Given the description of an element on the screen output the (x, y) to click on. 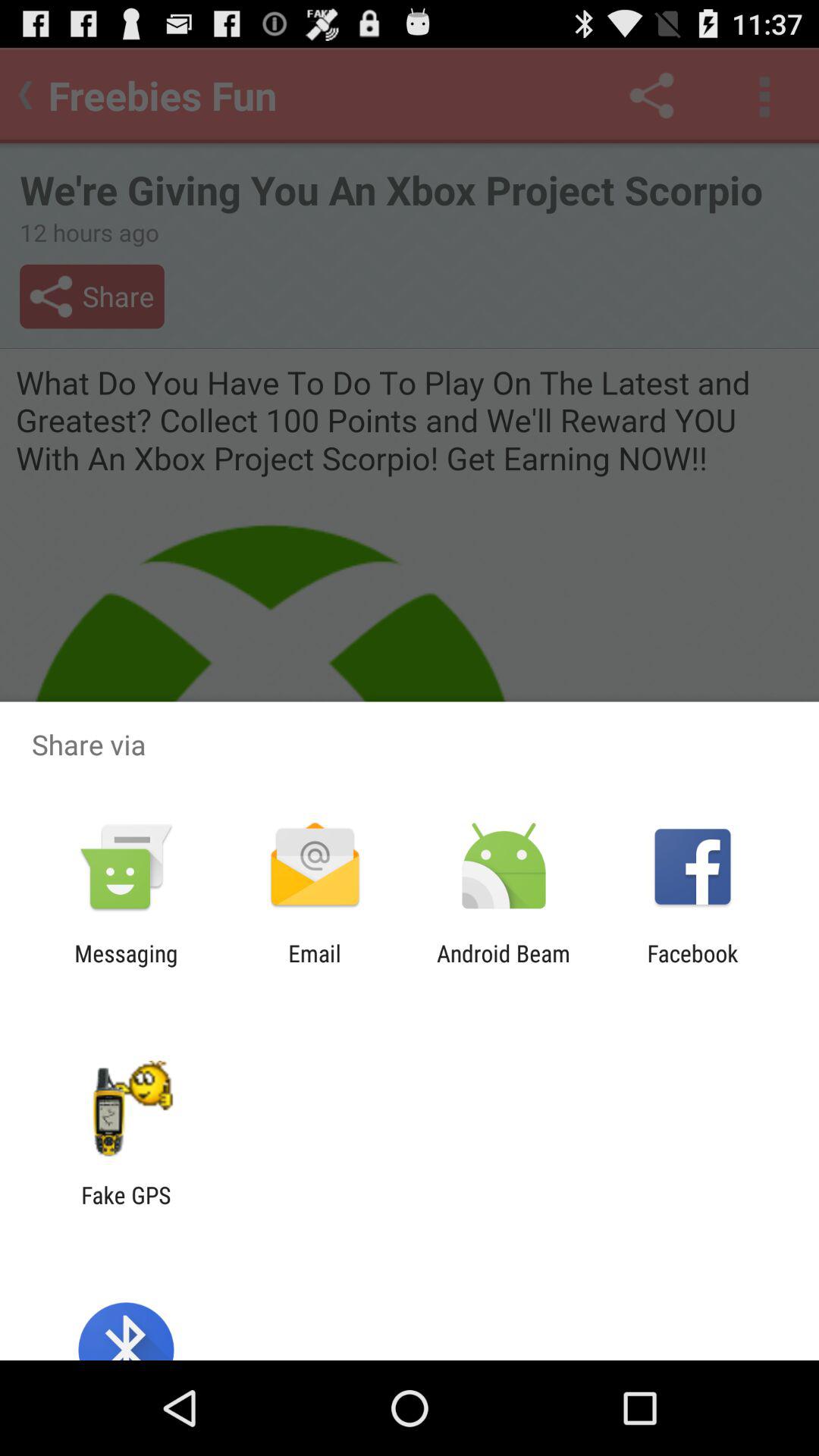
scroll until messaging app (126, 966)
